Given the description of an element on the screen output the (x, y) to click on. 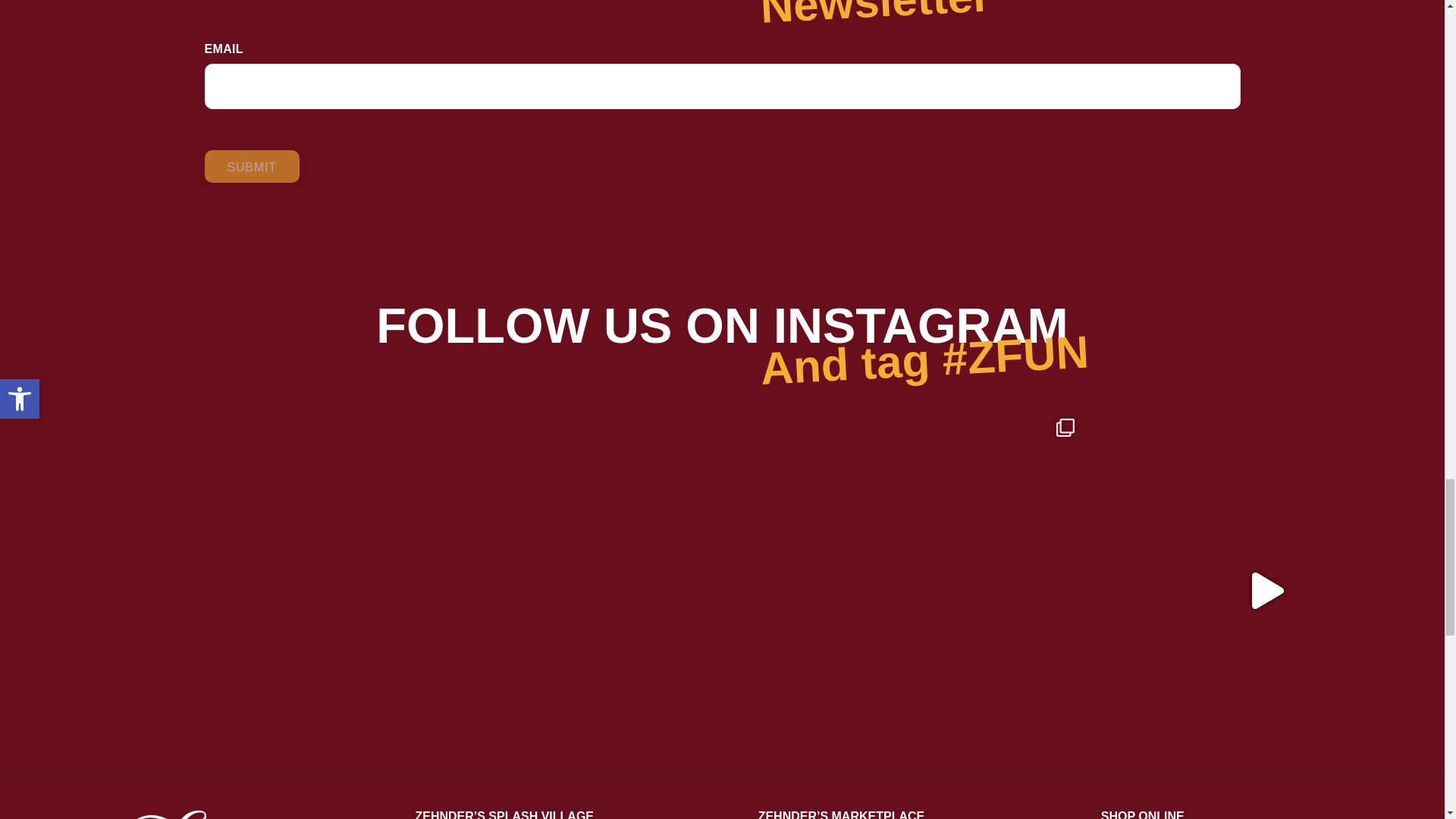
Submit (252, 165)
ZENGOLD2 (207, 812)
